Given the description of an element on the screen output the (x, y) to click on. 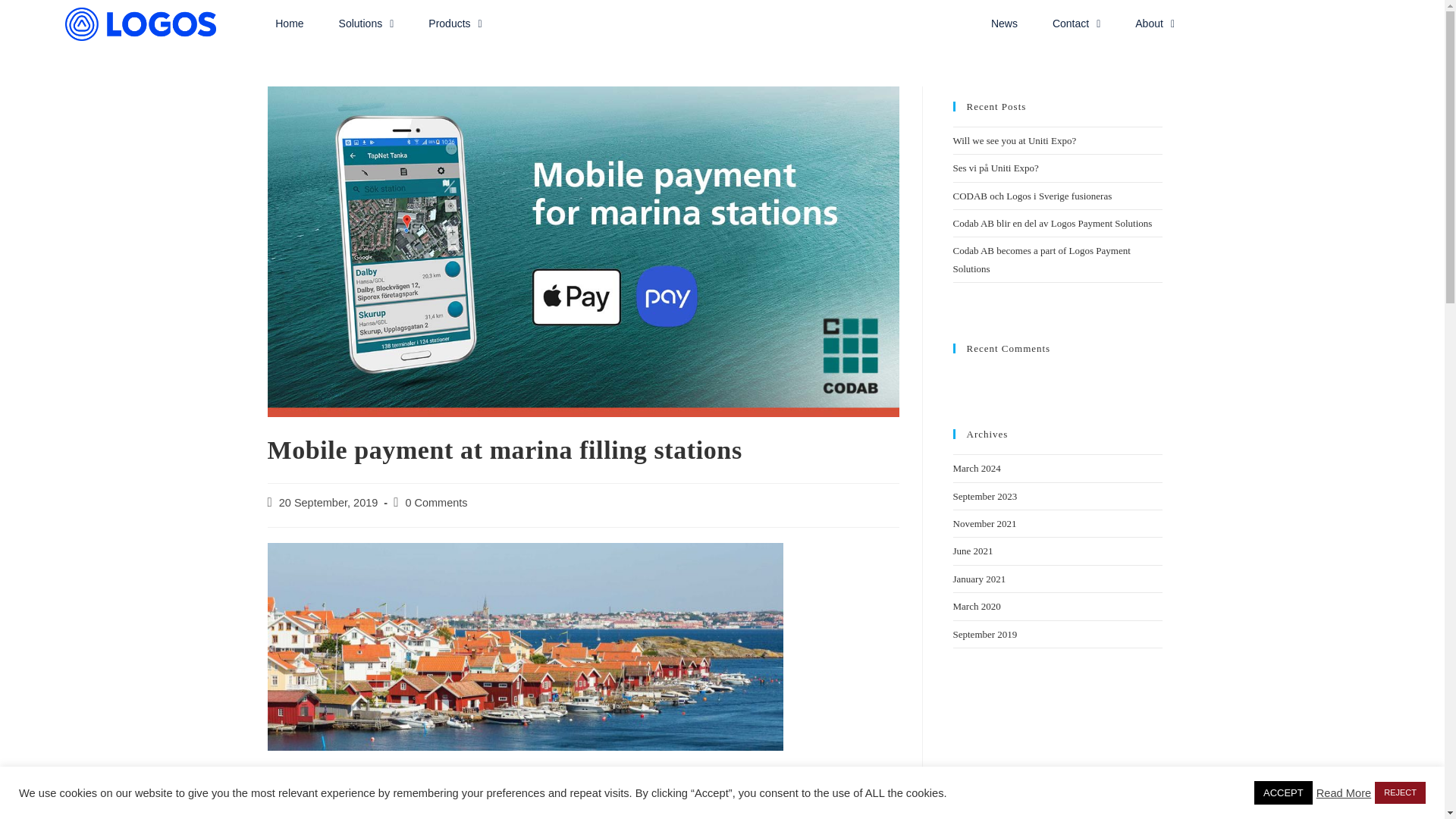
News (1004, 23)
Contact (1075, 23)
Solutions (365, 23)
Home (288, 23)
Products (454, 23)
